Given the description of an element on the screen output the (x, y) to click on. 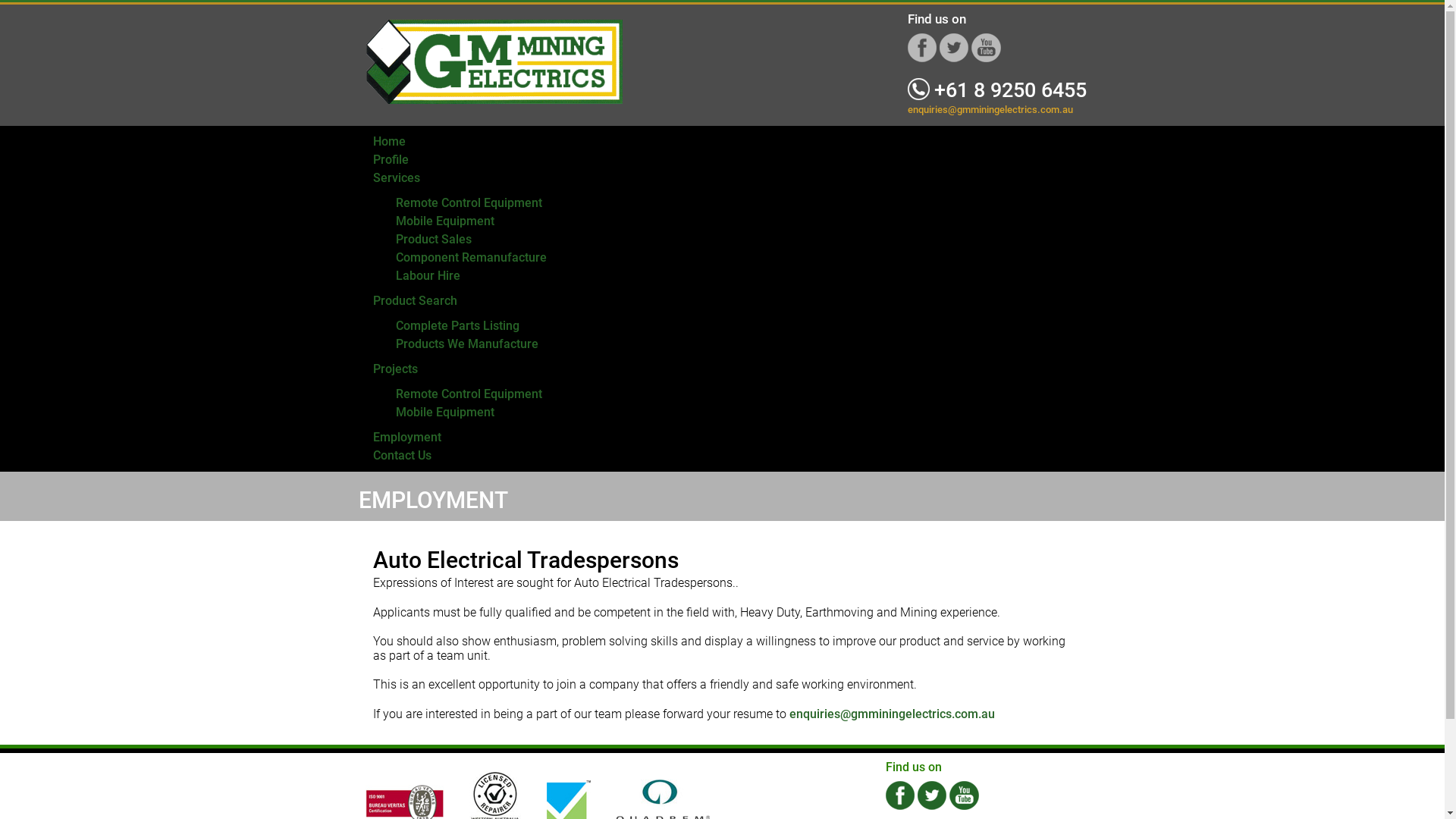
Products We Manufacture Element type: text (466, 343)
Product Sales Element type: text (433, 239)
+61 8 9250 6455 Element type: text (995, 90)
Mobile Equipment Element type: text (444, 220)
enquiries@gmminingelectrics.com.au Element type: text (989, 109)
Projects Element type: text (395, 368)
Home Element type: text (389, 141)
Profile Element type: text (390, 159)
Component Remanufacture Element type: text (470, 257)
Mobile Equipment Element type: text (444, 411)
Services Element type: text (396, 177)
Contact Us Element type: text (402, 455)
enquiries@gmminingelectrics.com.au Element type: text (891, 713)
Remote Control Equipment Element type: text (468, 393)
Employment Element type: text (407, 436)
Labour Hire Element type: text (427, 275)
Product Search Element type: text (415, 300)
Complete Parts Listing Element type: text (457, 325)
Remote Control Equipment Element type: text (468, 202)
